Given the description of an element on the screen output the (x, y) to click on. 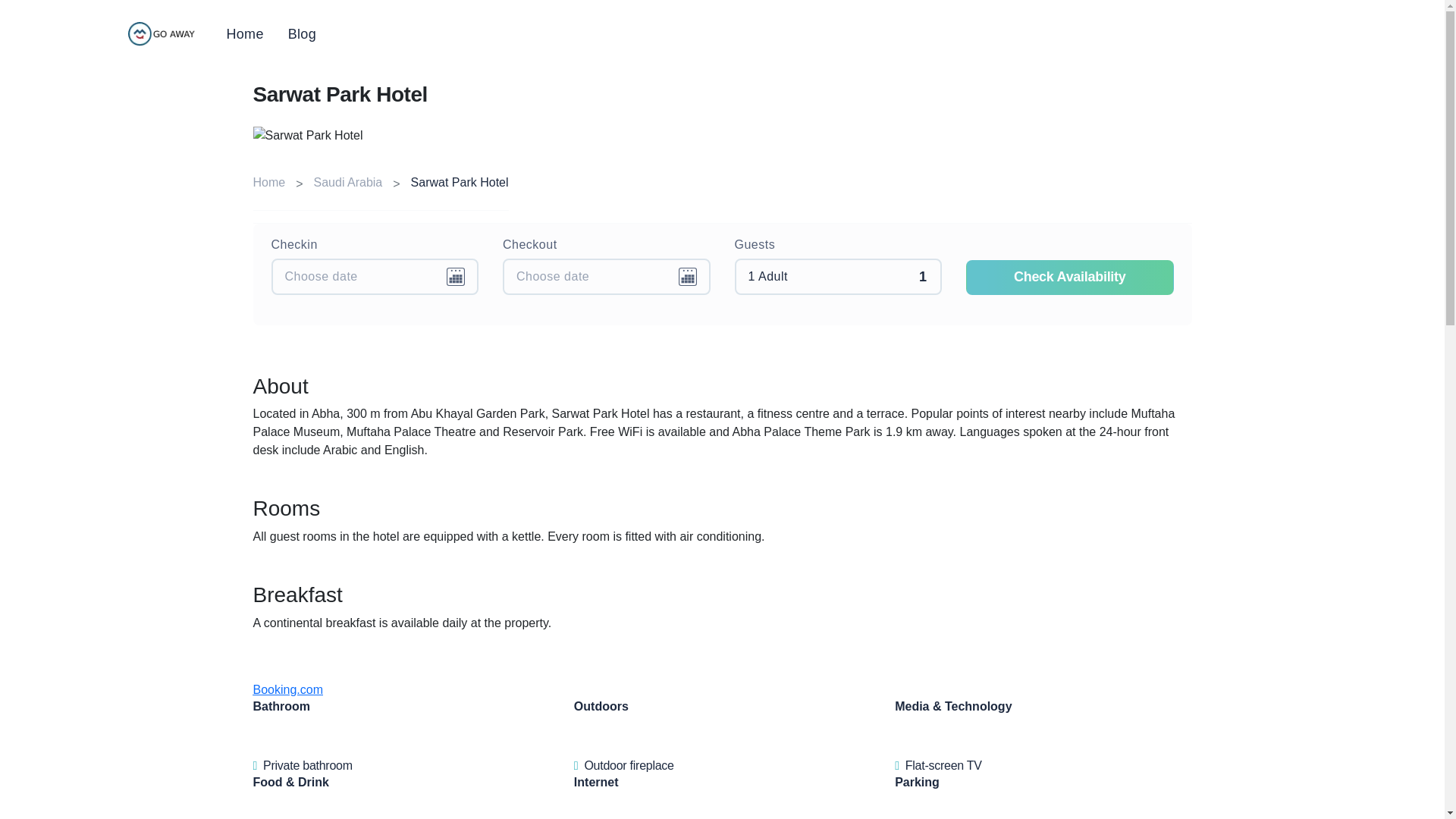
Check Availability (1069, 277)
Booking.com (288, 689)
Home (269, 182)
Saudi Arabia (348, 182)
1 Adult (837, 276)
Home (244, 34)
Blog (301, 34)
